Given the description of an element on the screen output the (x, y) to click on. 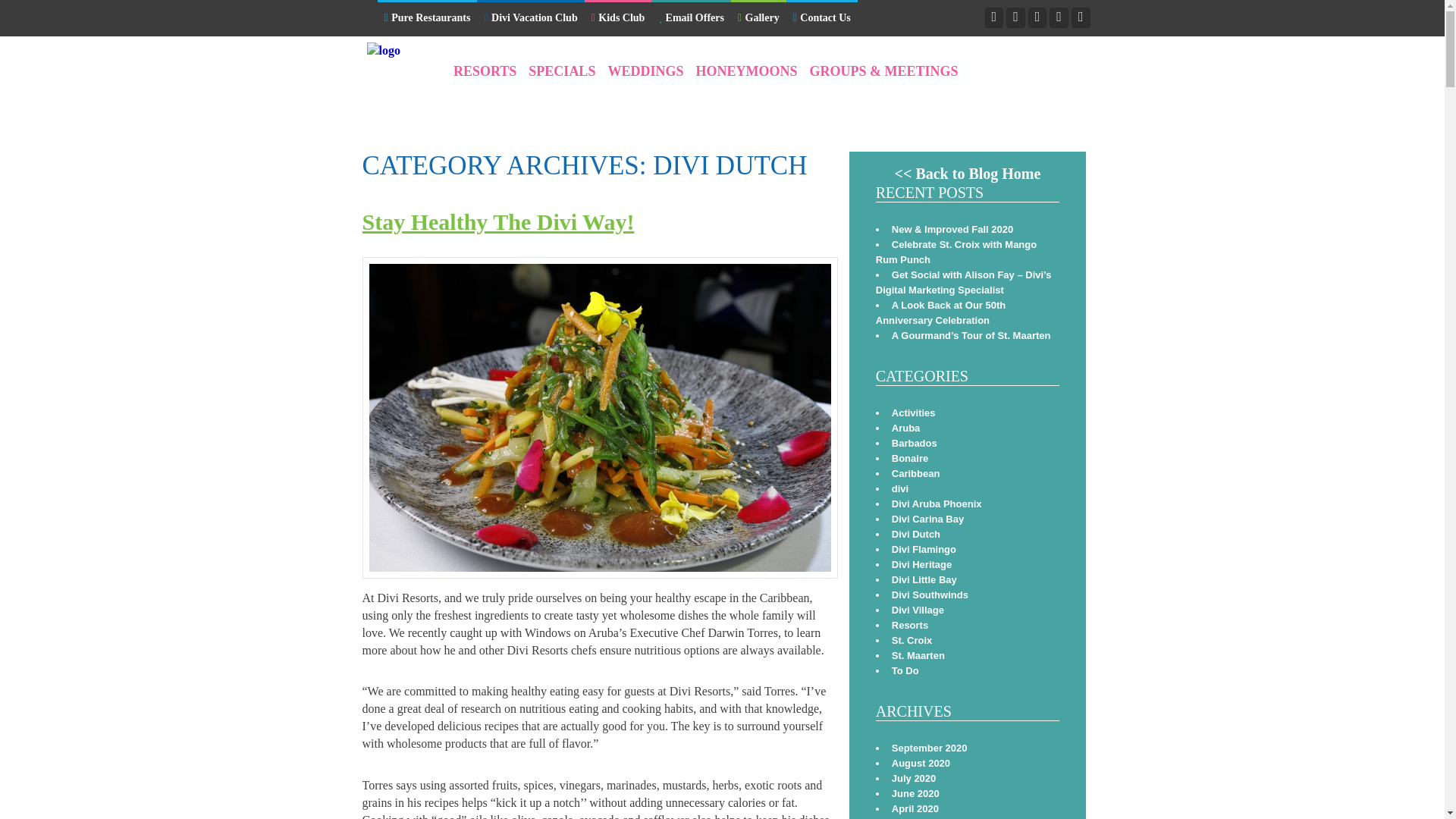
Stay Healthy The Divi Way! (498, 221)
Pure Restaurants (427, 19)
SPECIALS (561, 71)
RESORTS (484, 71)
Contact Us (821, 19)
Divi Vacation Club (530, 19)
HONEYMOONS (745, 71)
Email Offers (690, 19)
Gallery (758, 19)
WEDDINGS (645, 71)
Kids Club (618, 19)
